Given the description of an element on the screen output the (x, y) to click on. 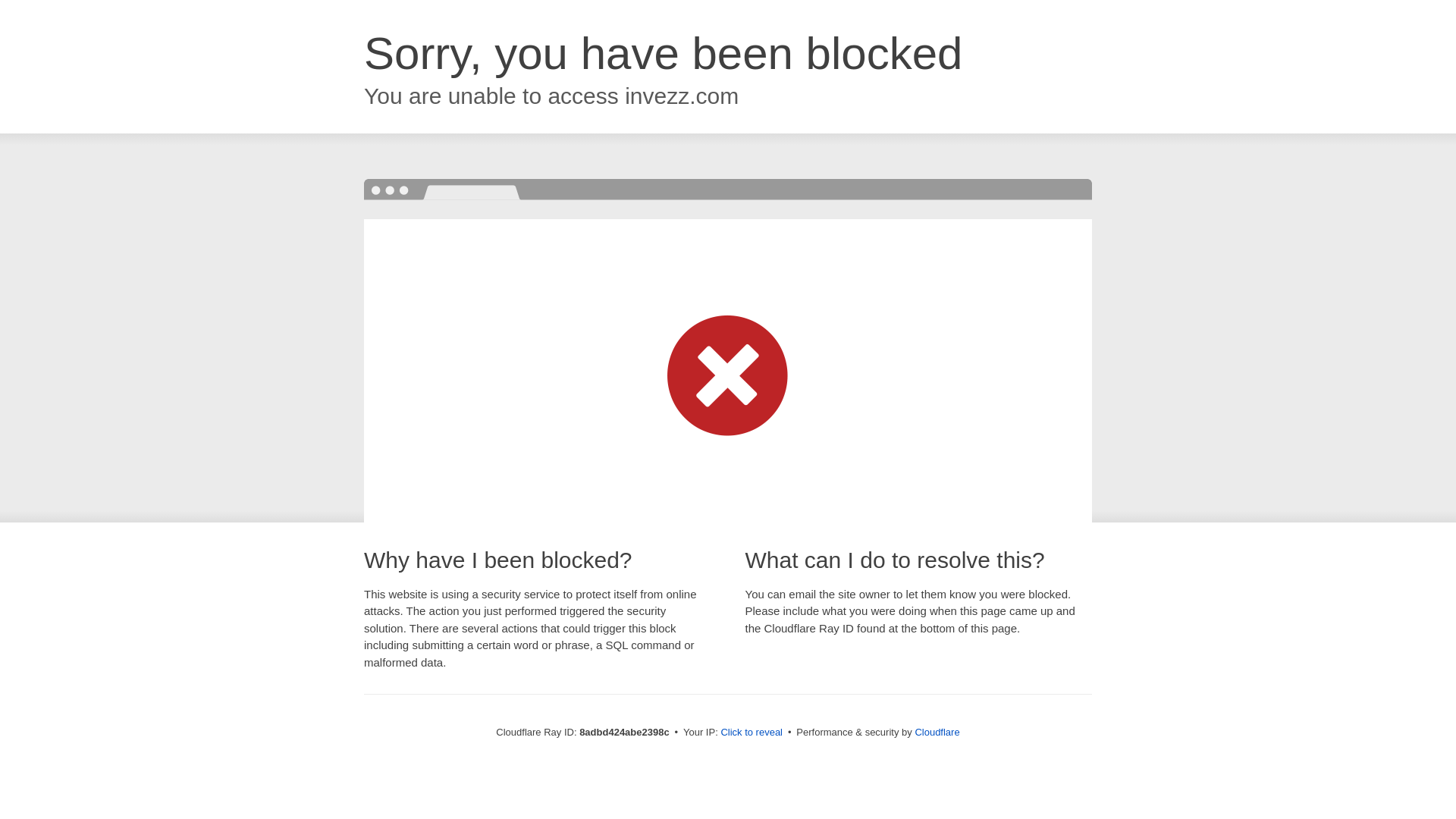
Cloudflare (936, 731)
Click to reveal (751, 732)
